Given the description of an element on the screen output the (x, y) to click on. 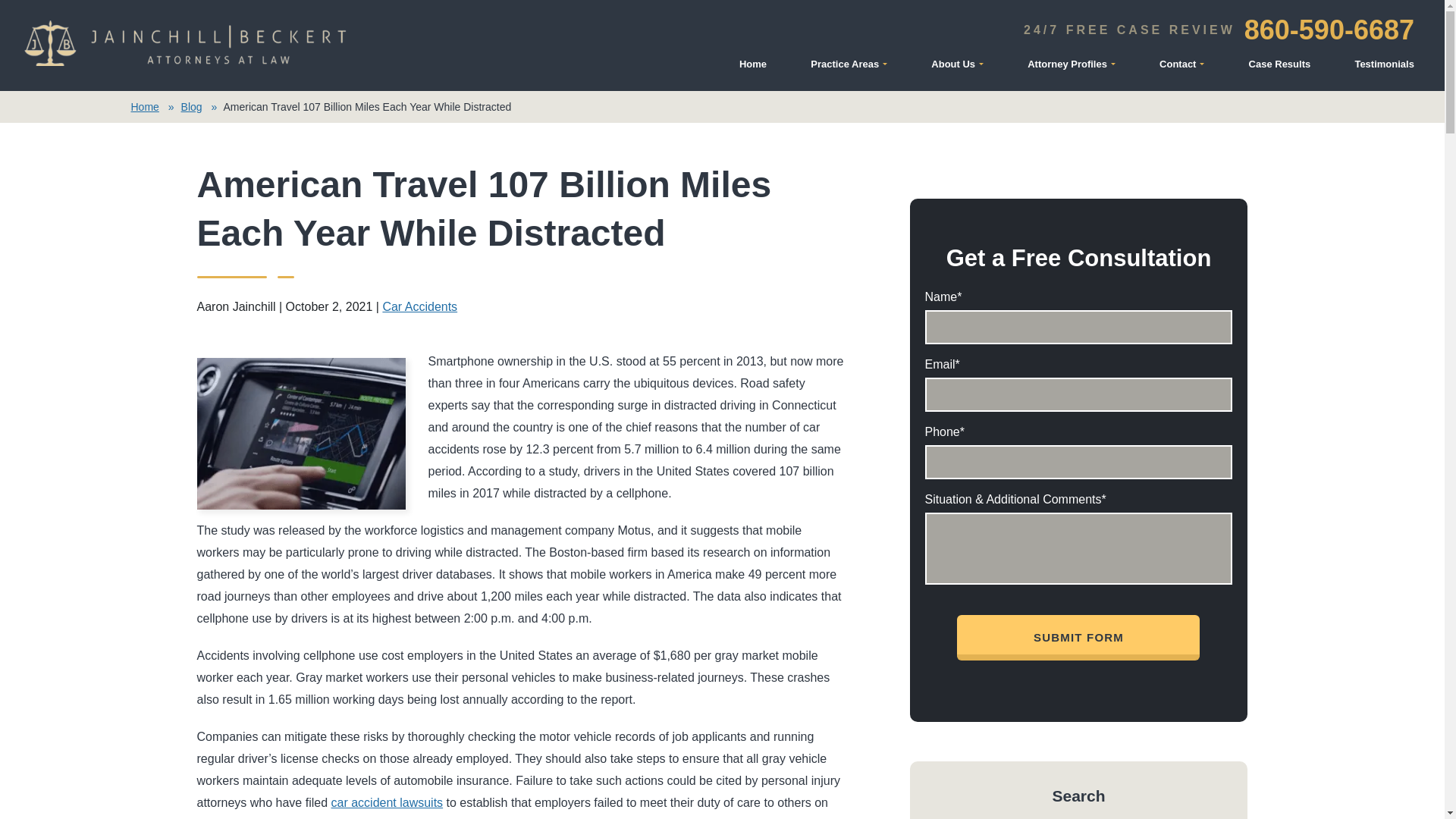
Home (758, 67)
Practice Areas (854, 67)
Practice Areas (854, 67)
Home (758, 67)
Submit Form (1077, 637)
